Given the description of an element on the screen output the (x, y) to click on. 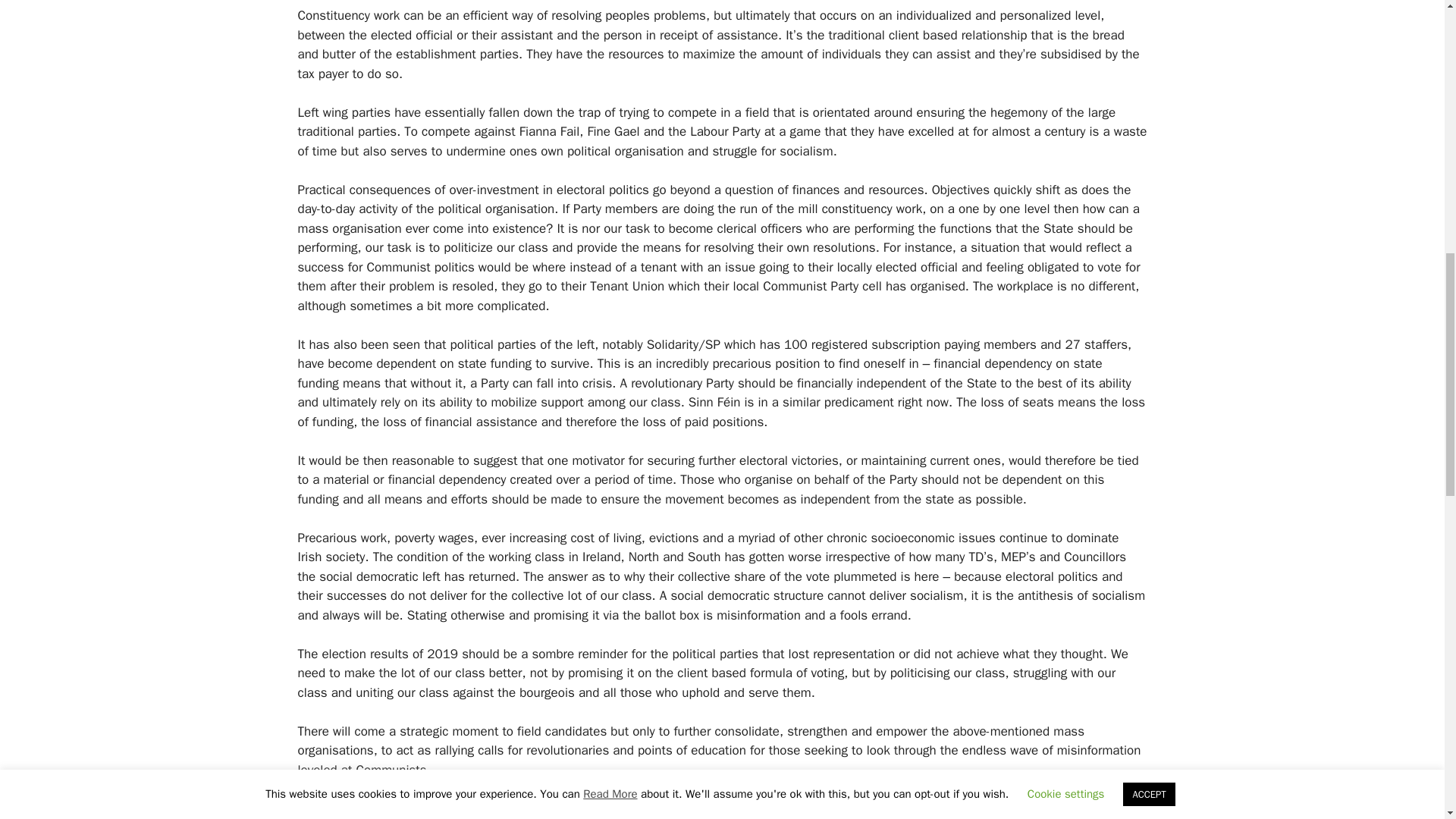
Scroll back to top (1406, 720)
